Given the description of an element on the screen output the (x, y) to click on. 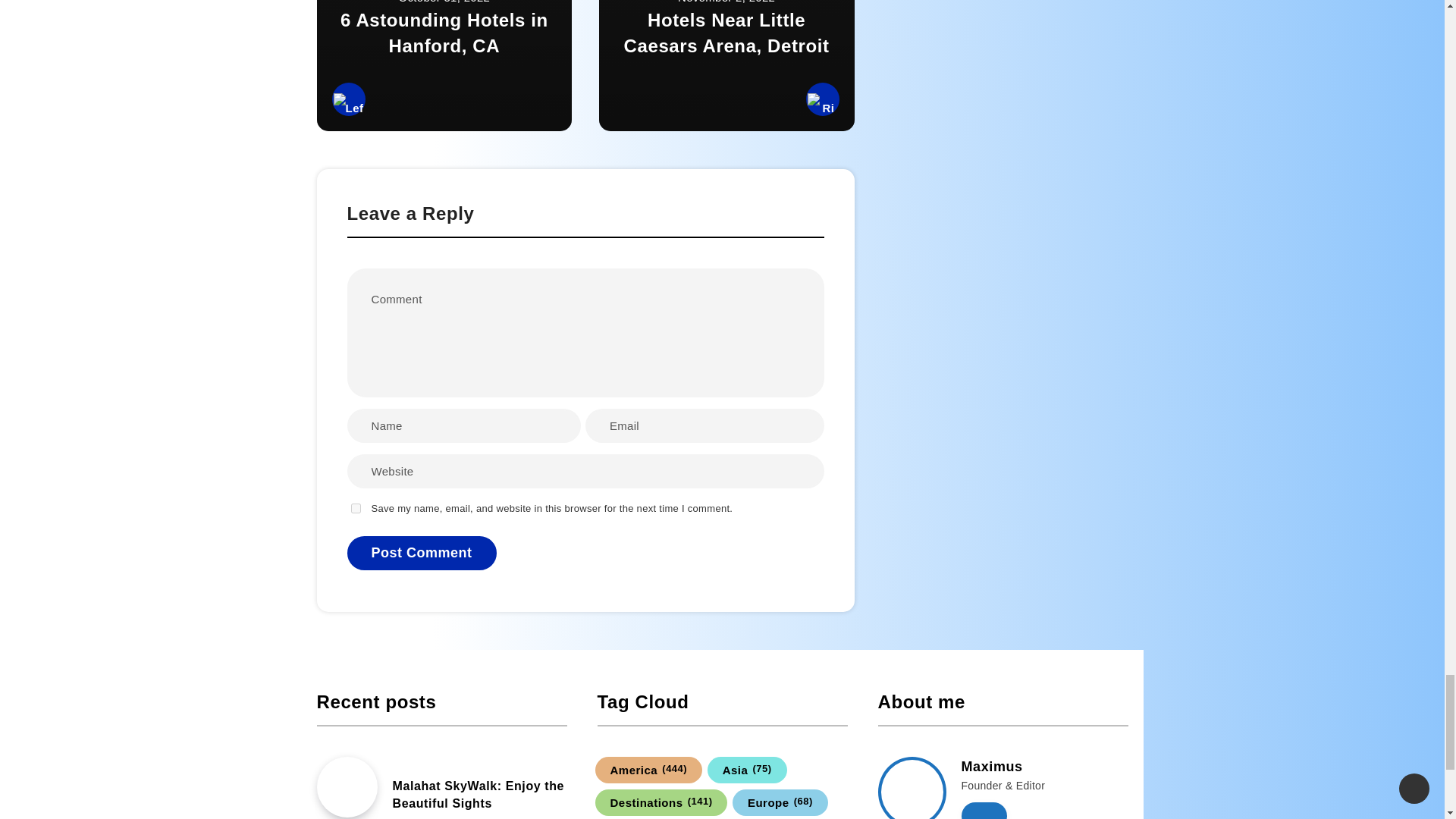
Post Comment (421, 553)
yes (354, 508)
